Given the description of an element on the screen output the (x, y) to click on. 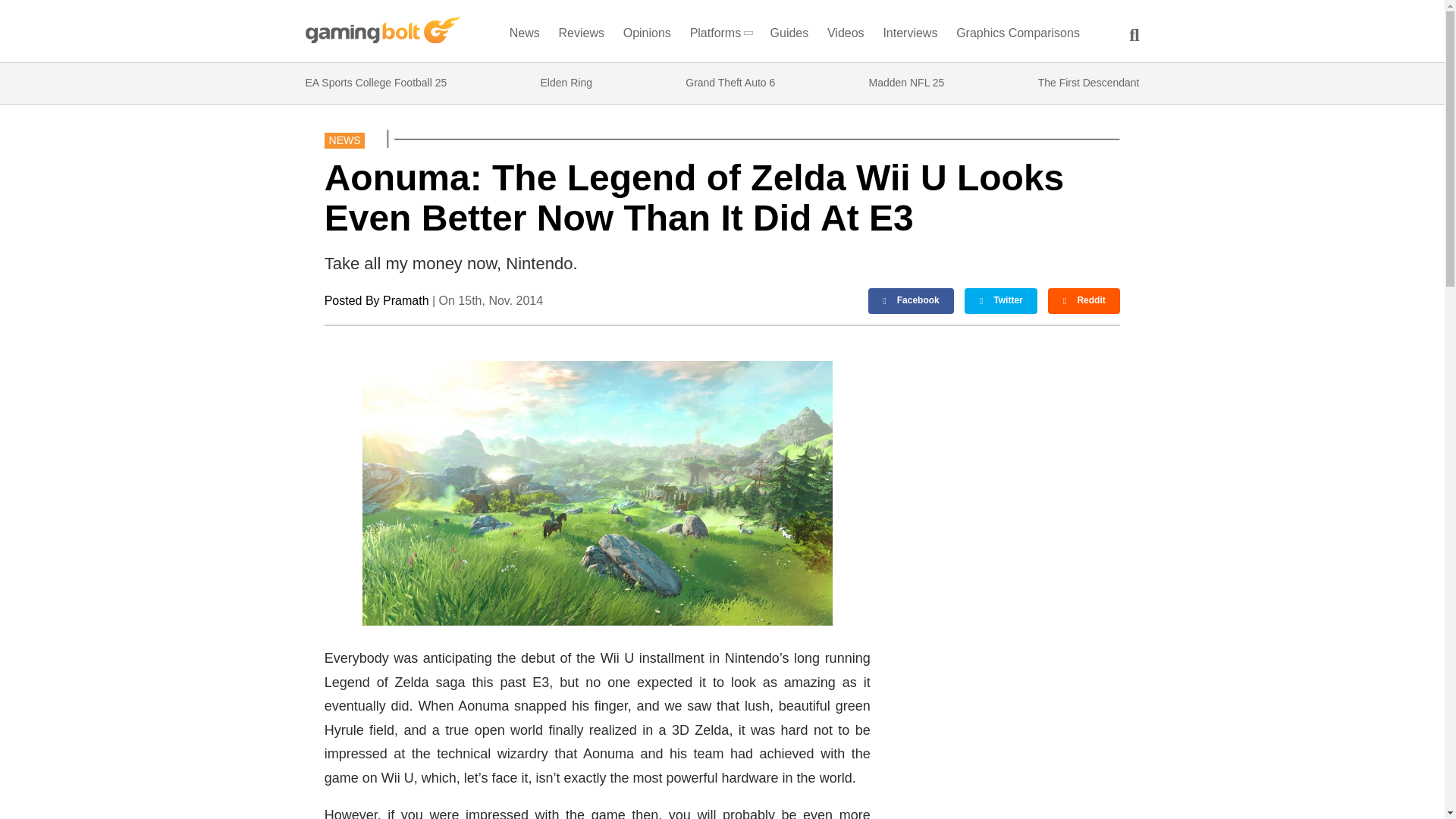
Twitter (999, 300)
NEWS (345, 140)
Pramath (405, 300)
Madden NFL 25 (906, 82)
Facebook (911, 300)
Guides (789, 36)
Opinions (647, 36)
Elden Ring (566, 82)
EA Sports College Football 25 (375, 82)
Videos (845, 36)
